Given the description of an element on the screen output the (x, y) to click on. 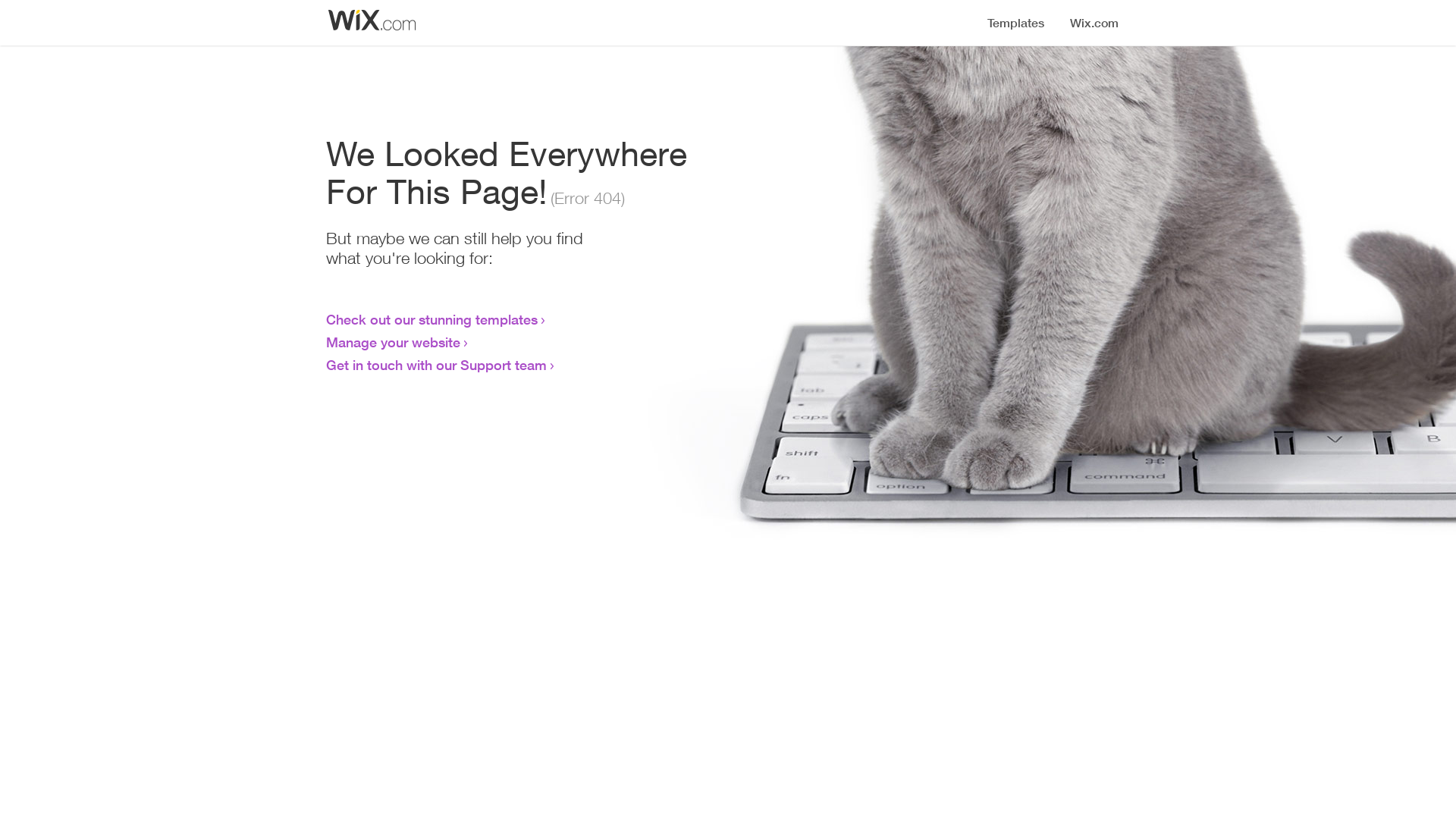
Manage your website Element type: text (393, 341)
Check out our stunning templates Element type: text (431, 318)
Get in touch with our Support team Element type: text (436, 364)
